Given the description of an element on the screen output the (x, y) to click on. 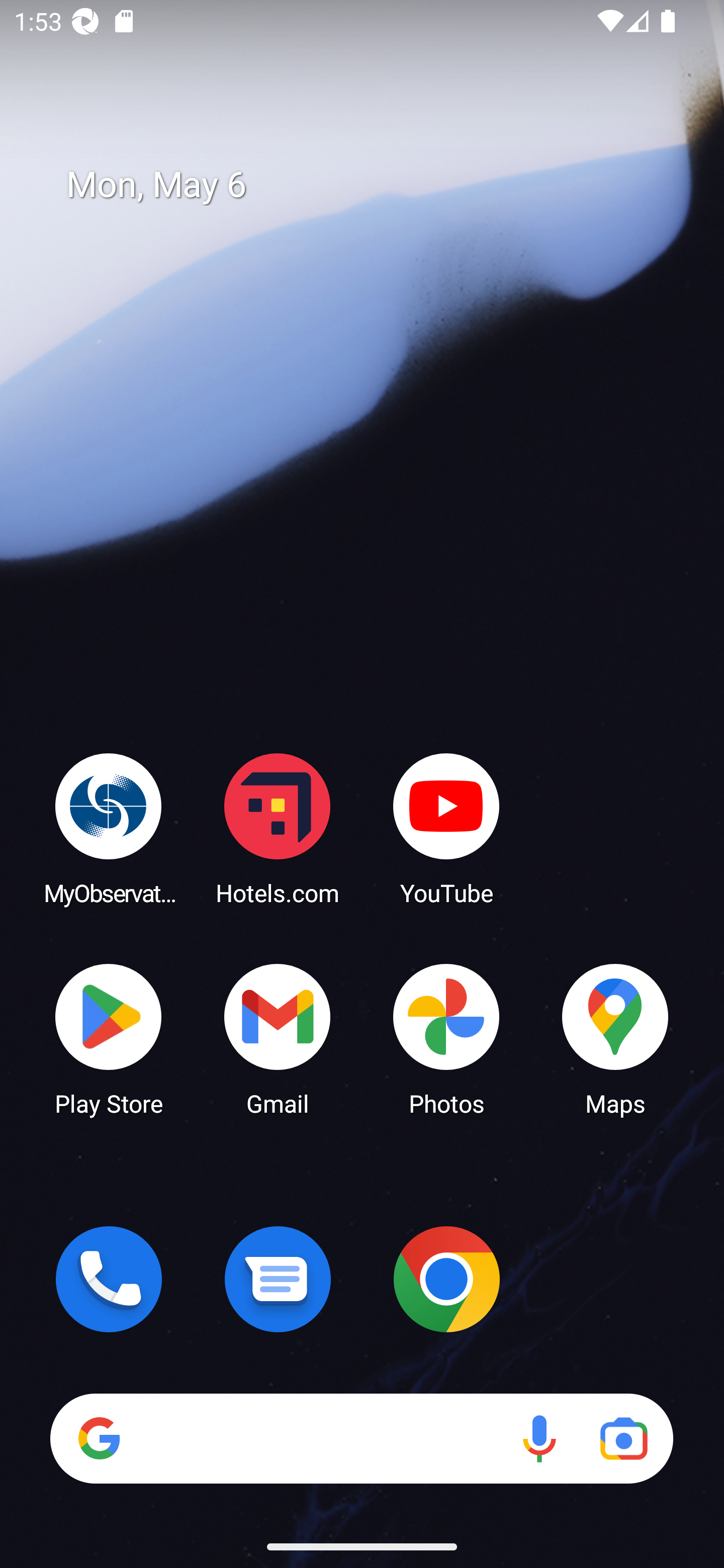
Mon, May 6 (375, 184)
MyObservatory (108, 828)
Hotels.com (277, 828)
YouTube (445, 828)
Play Store (108, 1038)
Gmail (277, 1038)
Photos (445, 1038)
Maps (615, 1038)
Phone (108, 1279)
Messages (277, 1279)
Chrome (446, 1279)
Search Voice search Google Lens (361, 1438)
Voice search (539, 1438)
Google Lens (623, 1438)
